Given the description of an element on the screen output the (x, y) to click on. 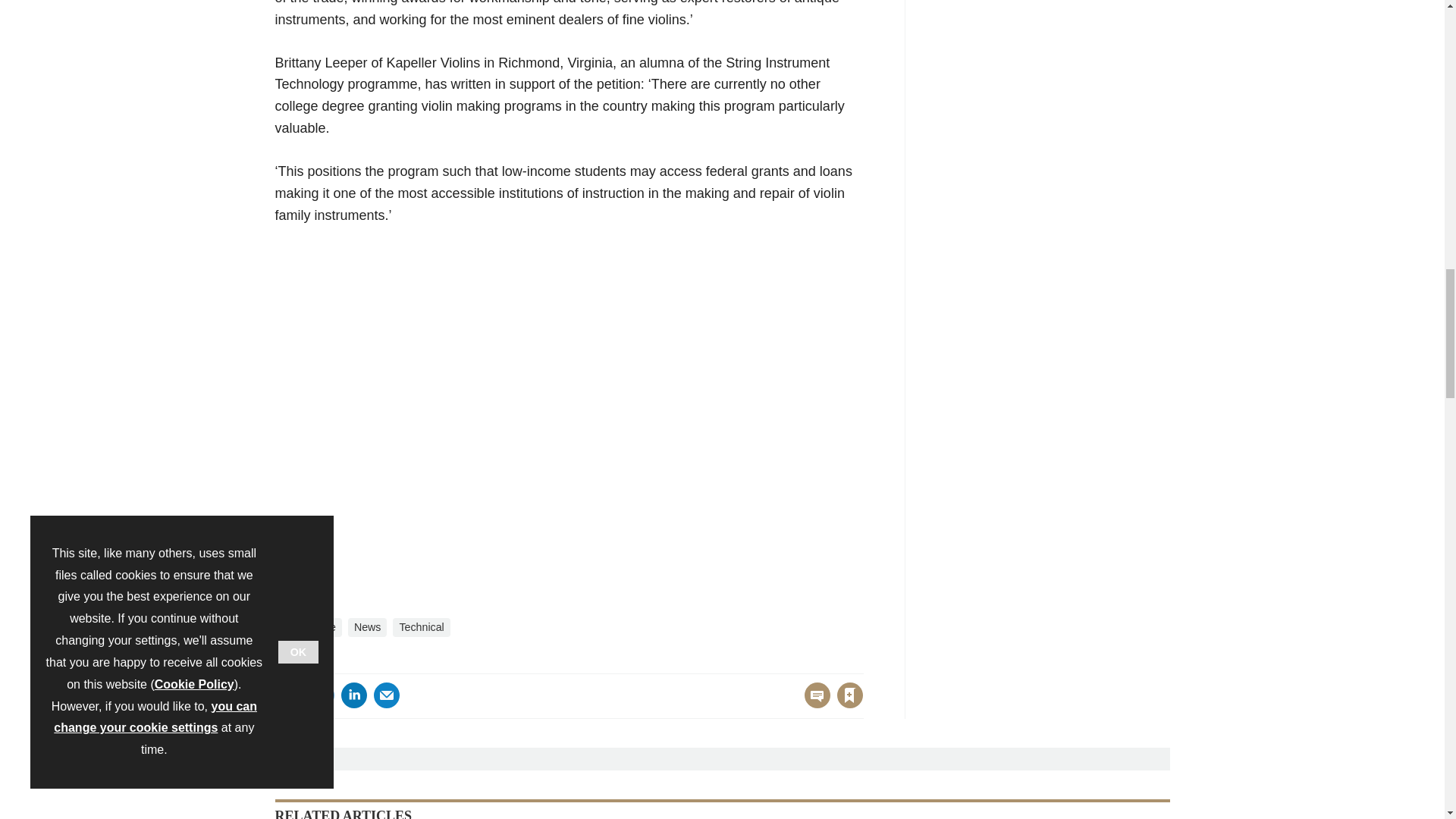
Share this on Facebook (288, 695)
No comments (812, 703)
Email this article (386, 695)
Share this on Linked in (352, 695)
Share this on Twitter (320, 695)
